Given the description of an element on the screen output the (x, y) to click on. 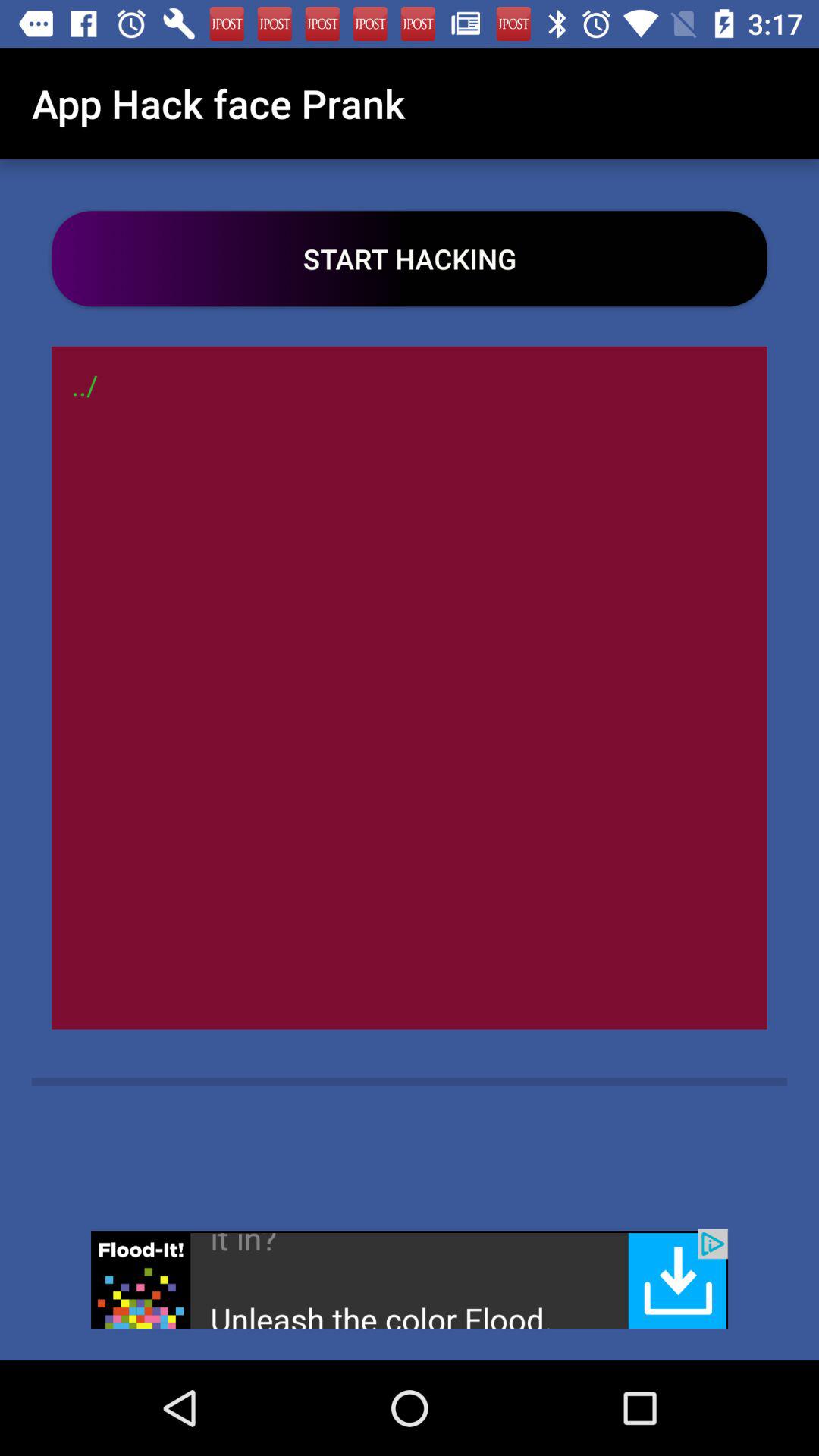
open the advertisement (409, 1278)
